Given the description of an element on the screen output the (x, y) to click on. 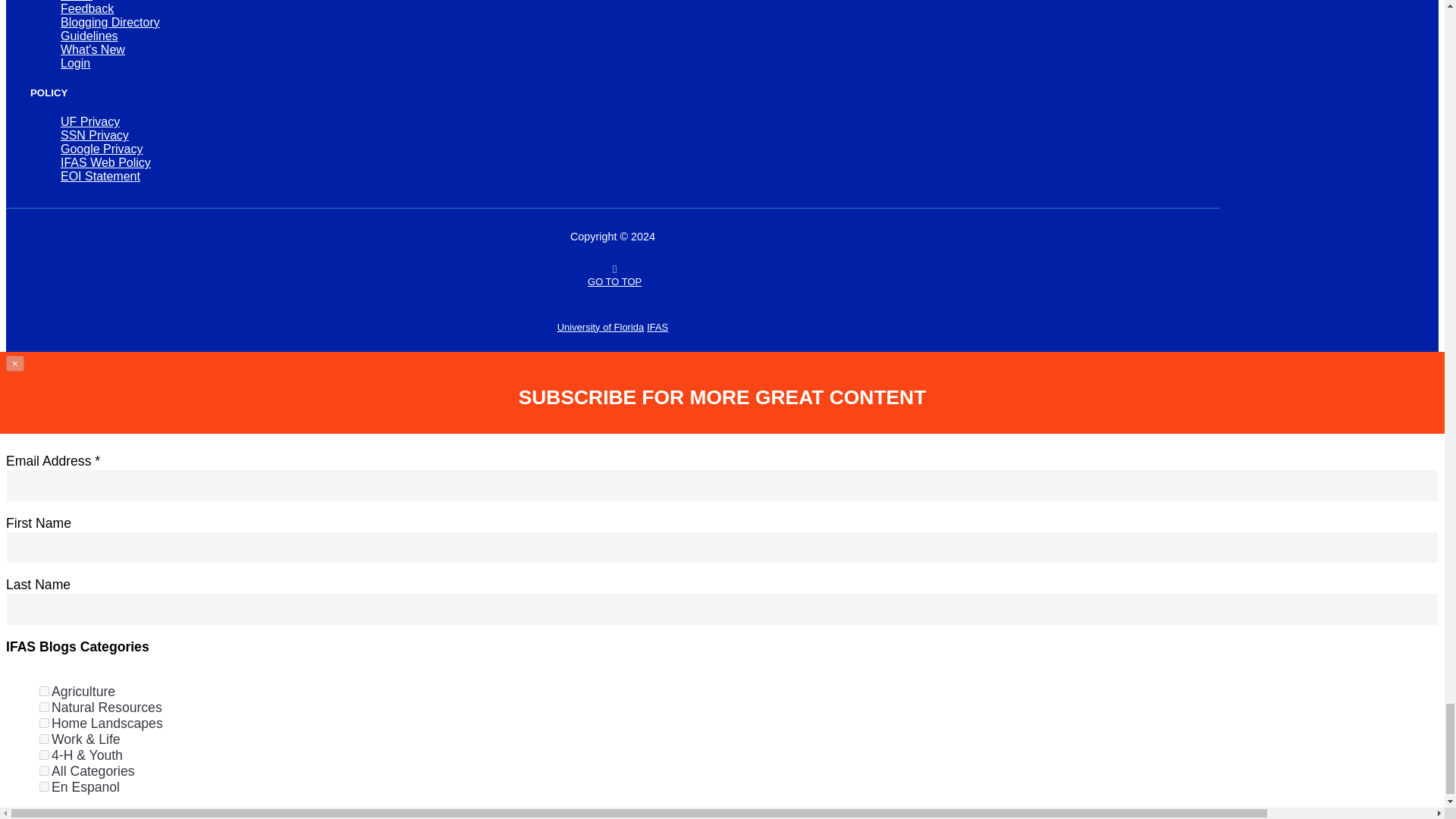
8 (44, 738)
1 (44, 691)
2 (44, 706)
32 (44, 770)
16 (44, 755)
4 (44, 723)
64 (44, 786)
